Given the description of an element on the screen output the (x, y) to click on. 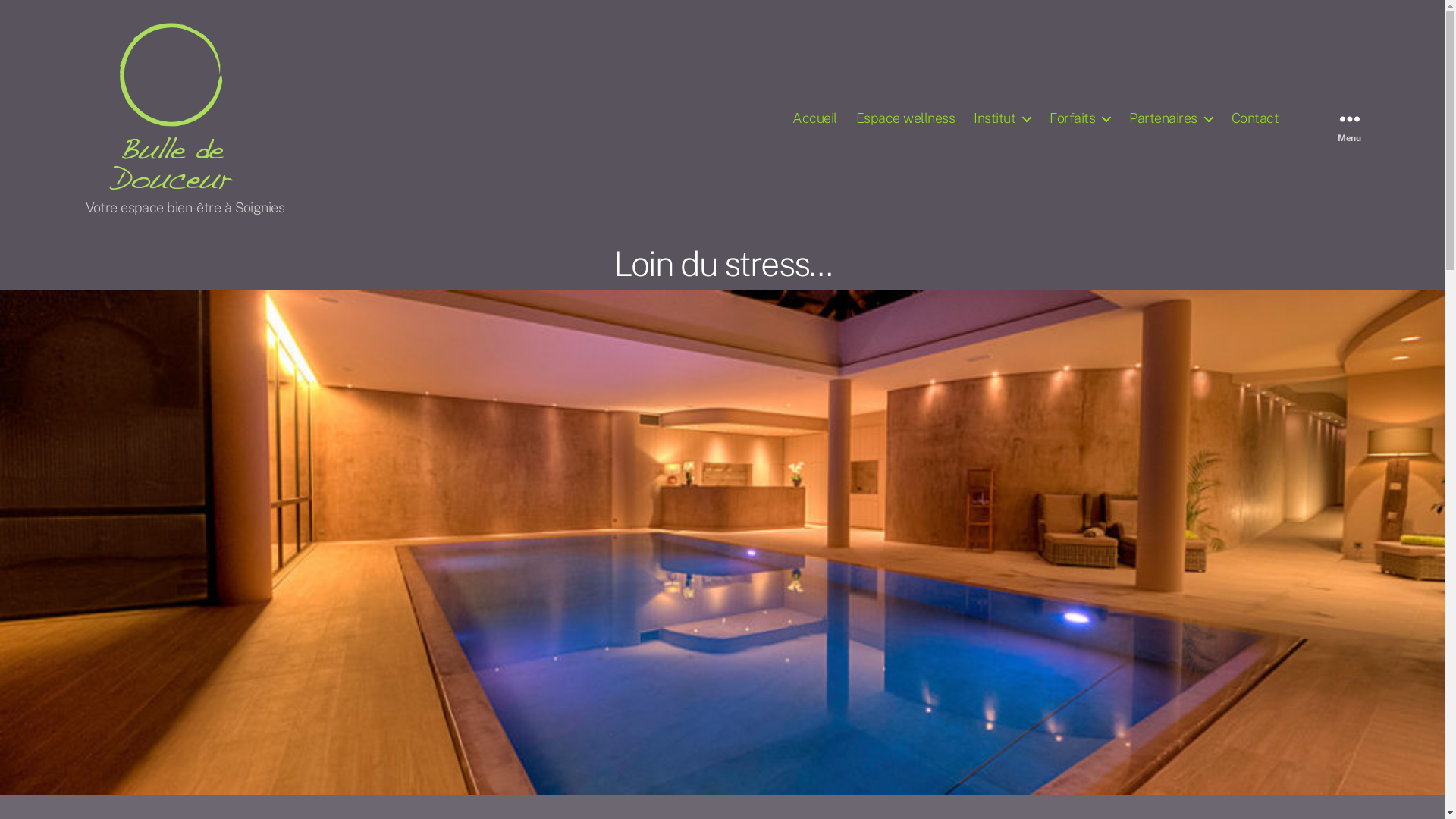
Espace wellness Element type: text (905, 117)
Accueil Element type: text (814, 117)
Contact Element type: text (1255, 117)
Partenaires Element type: text (1170, 117)
Menu Element type: text (1348, 117)
Forfaits Element type: text (1079, 117)
Institut Element type: text (1001, 117)
